Given the description of an element on the screen output the (x, y) to click on. 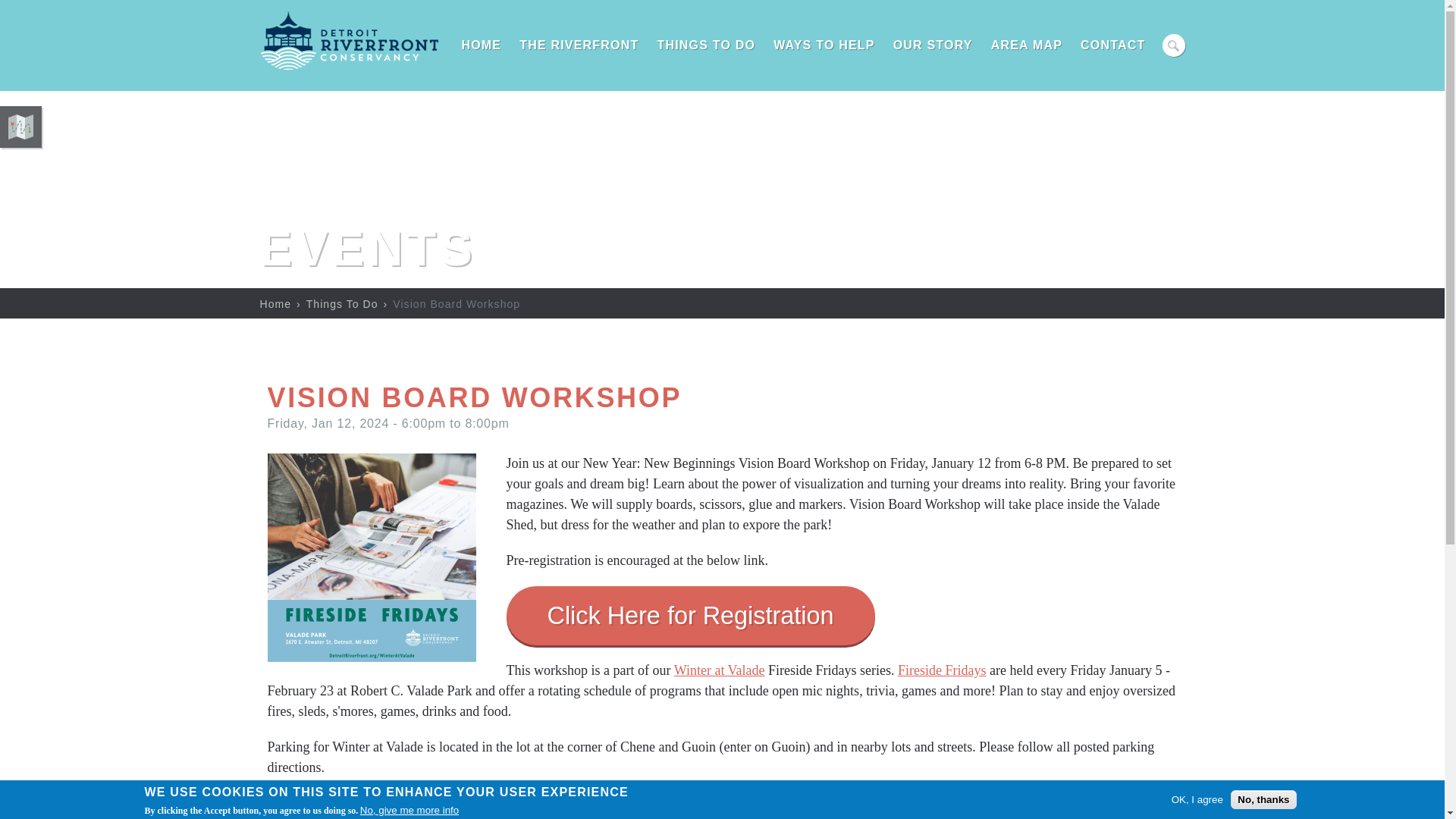
THINGS TO DO (705, 44)
. (1173, 45)
Search (1173, 45)
Home (348, 67)
Things To Do (341, 304)
THE RIVERFRONT (579, 44)
Skip to main content (31, 0)
Current Page (456, 304)
HOME (481, 44)
